Given the description of an element on the screen output the (x, y) to click on. 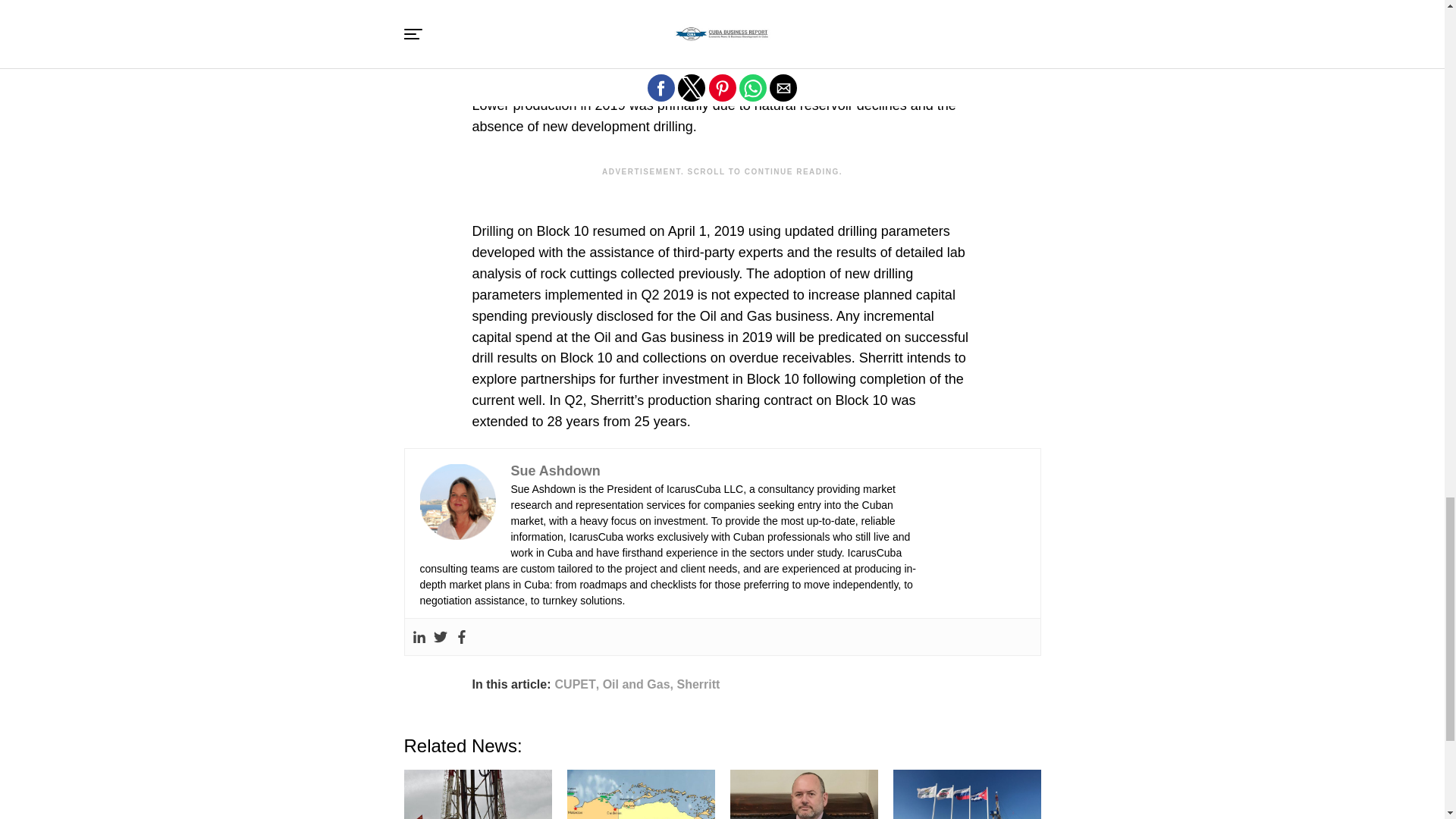
Sherritt (698, 684)
Cuban oil production (781, 63)
CUPET (574, 684)
Sue Ashdown (555, 470)
Facebook (461, 636)
Oil and Gas (635, 684)
Linkedin (419, 636)
Twitter (439, 636)
